Given the description of an element on the screen output the (x, y) to click on. 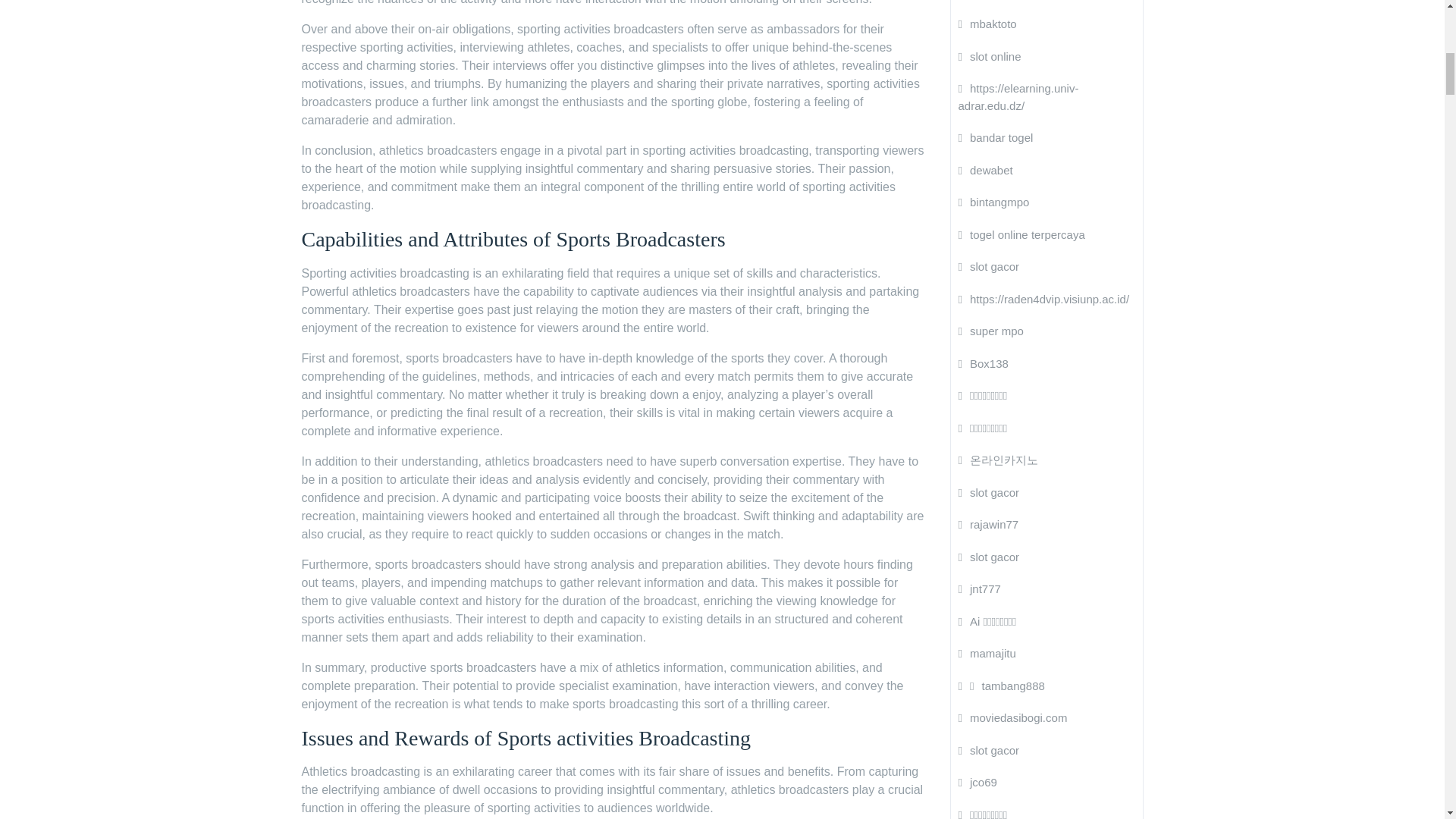
bintangmpo (993, 201)
slot gacor (989, 266)
super mpo (990, 330)
togel online terpercaya (1021, 233)
dewabet (985, 169)
slot online (990, 56)
mbaktoto (987, 23)
bandar togel (995, 137)
